Given the description of an element on the screen output the (x, y) to click on. 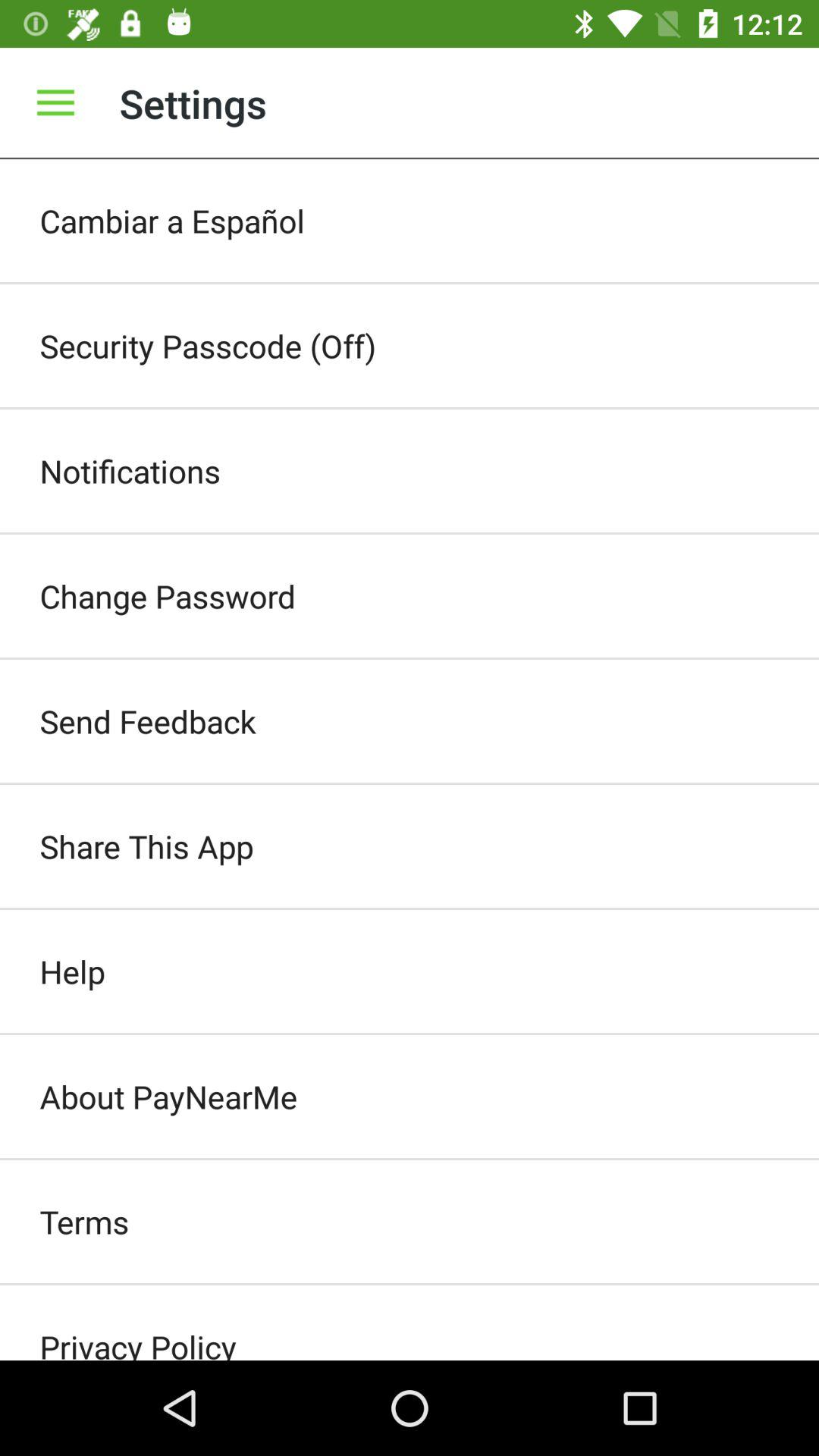
jump until privacy policy item (409, 1322)
